Given the description of an element on the screen output the (x, y) to click on. 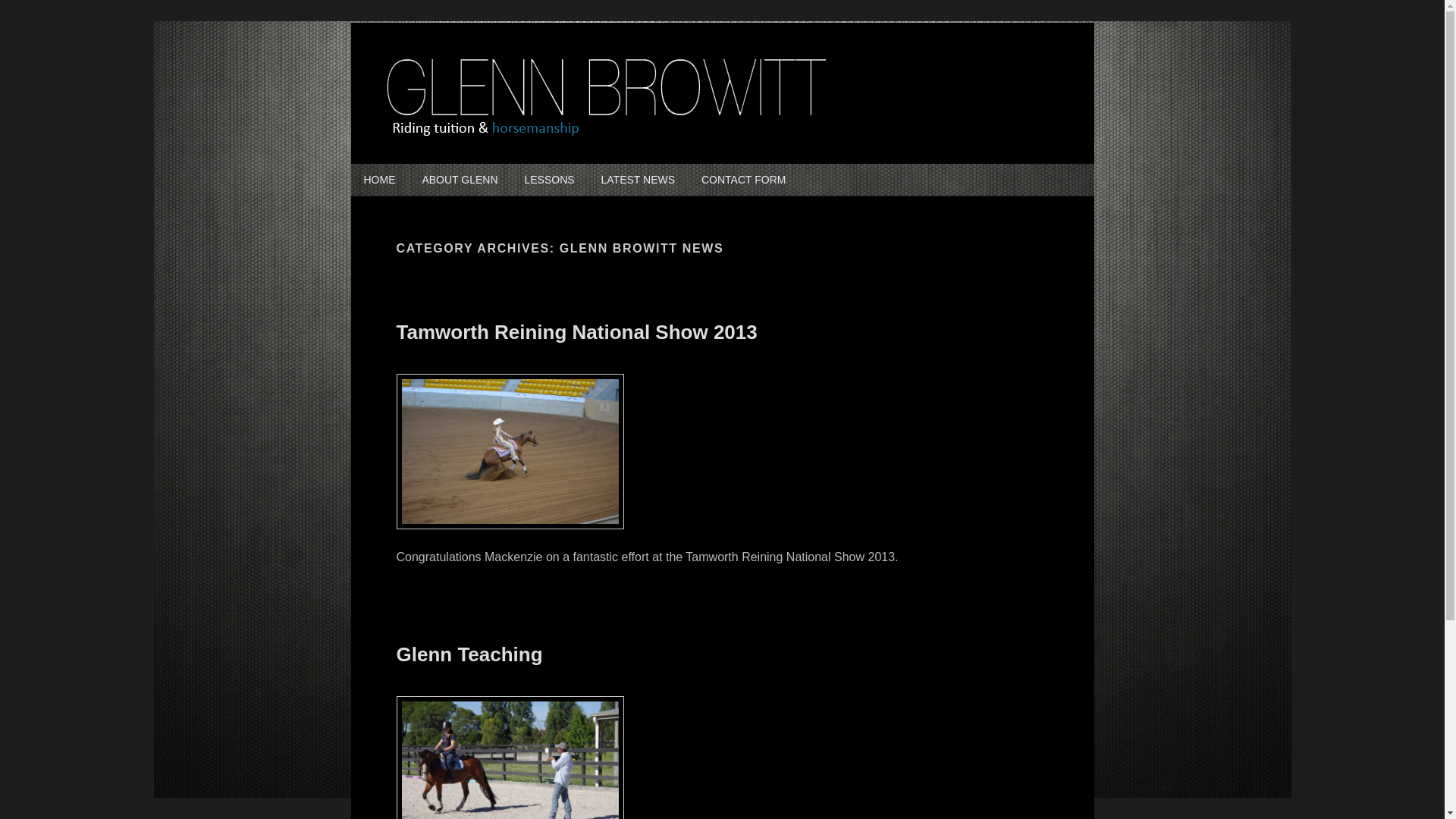
CONTACT FORM Element type: text (743, 179)
Glenn Browitt Element type: text (462, 157)
LATEST NEWS Element type: text (637, 179)
Tamworth Reining National Show 2013 Element type: text (575, 331)
HOME Element type: text (378, 179)
Glenn Teaching Element type: text (468, 654)
LESSONS Element type: text (548, 179)
ABOUT GLENN Element type: text (459, 179)
Permalink to Tamworth Reining National Show 2013 Element type: hover (509, 536)
